Given the description of an element on the screen output the (x, y) to click on. 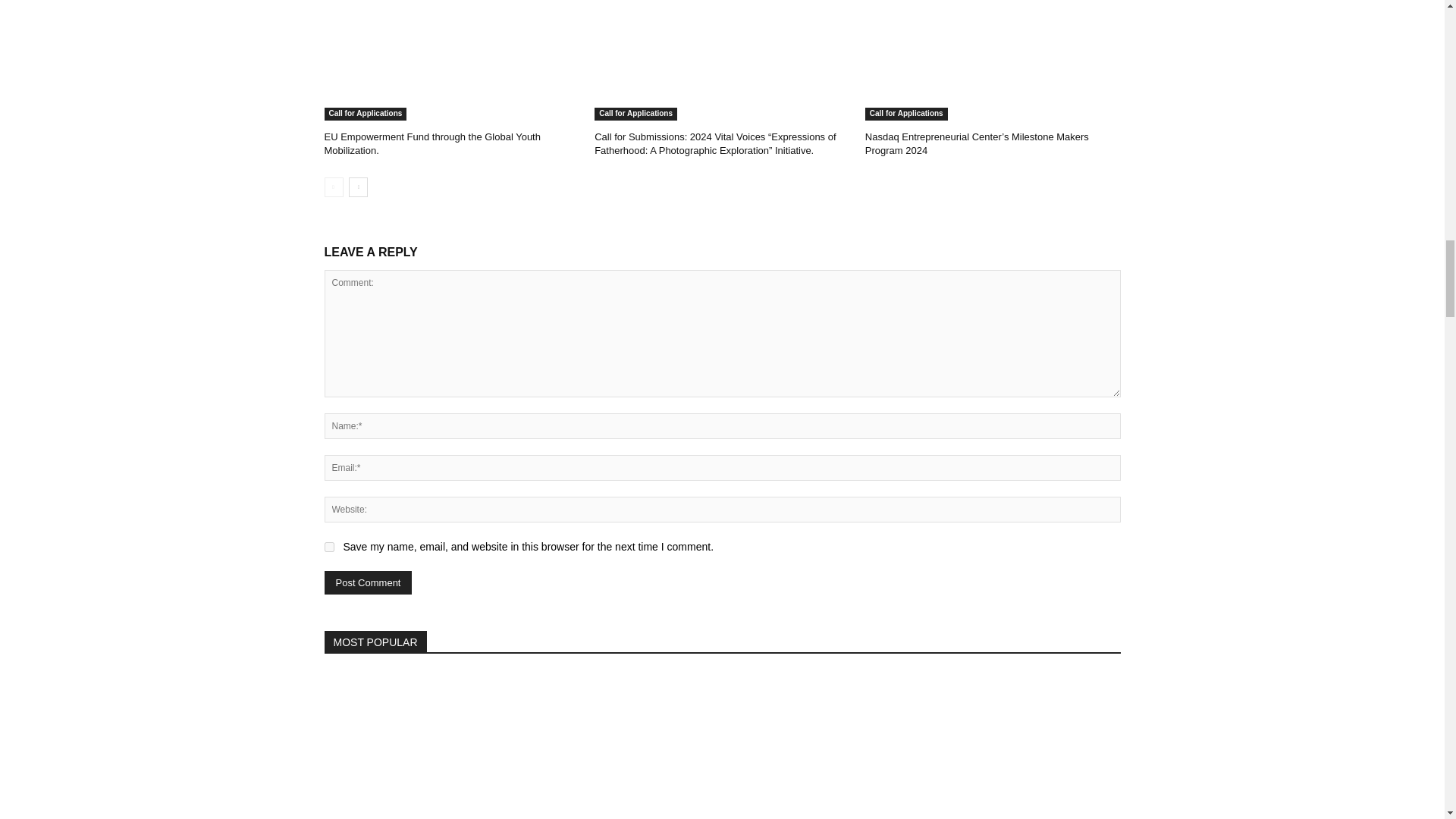
Post Comment (368, 582)
yes (329, 547)
